Given the description of an element on the screen output the (x, y) to click on. 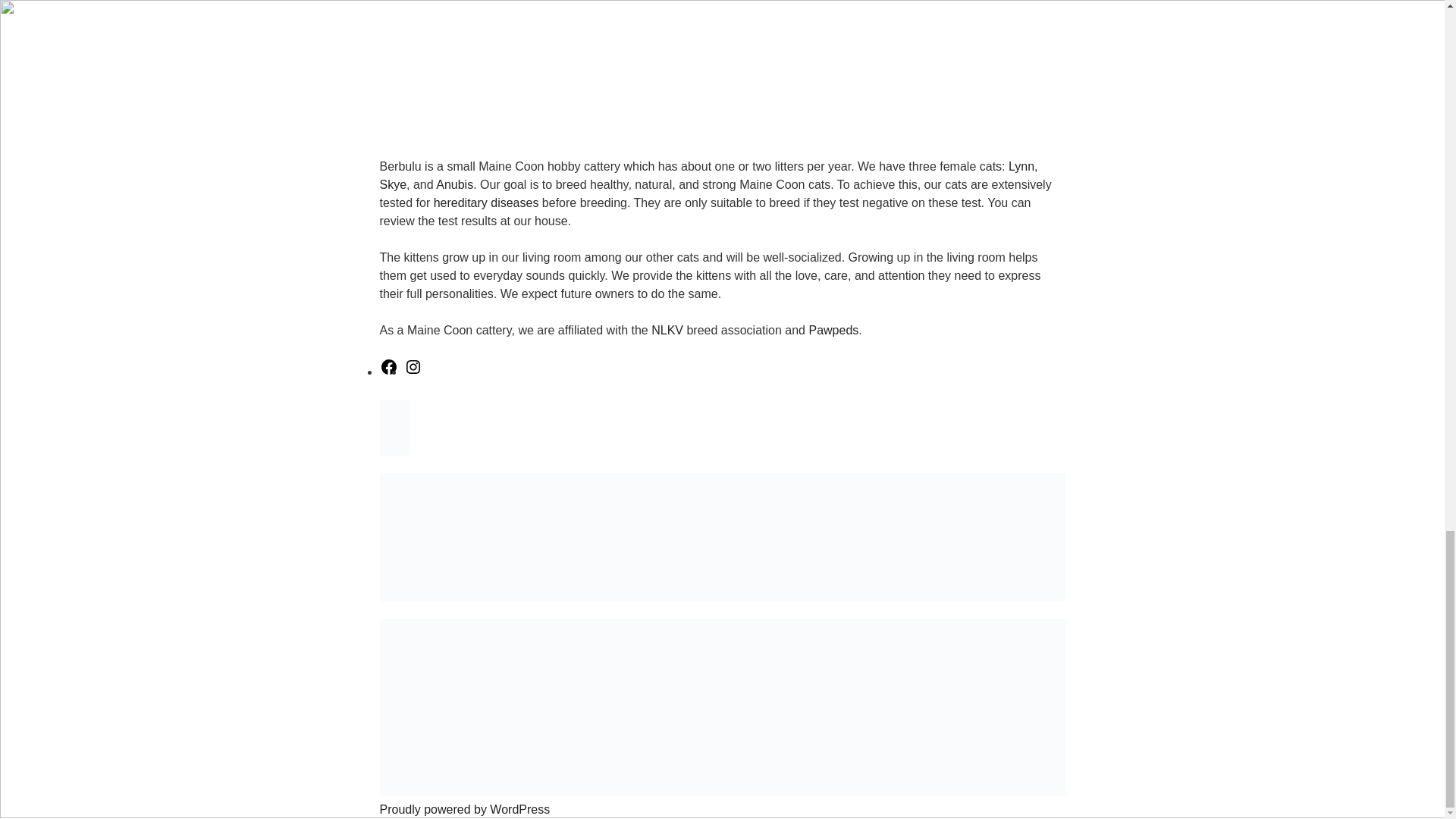
hereditary diseases (485, 202)
NLKV (666, 329)
Instagram (412, 371)
Anubis (454, 184)
Lynn (1021, 165)
Skye (392, 184)
Facebook (387, 371)
Pawpeds (833, 329)
Proudly powered by WordPress (464, 809)
